Given the description of an element on the screen output the (x, y) to click on. 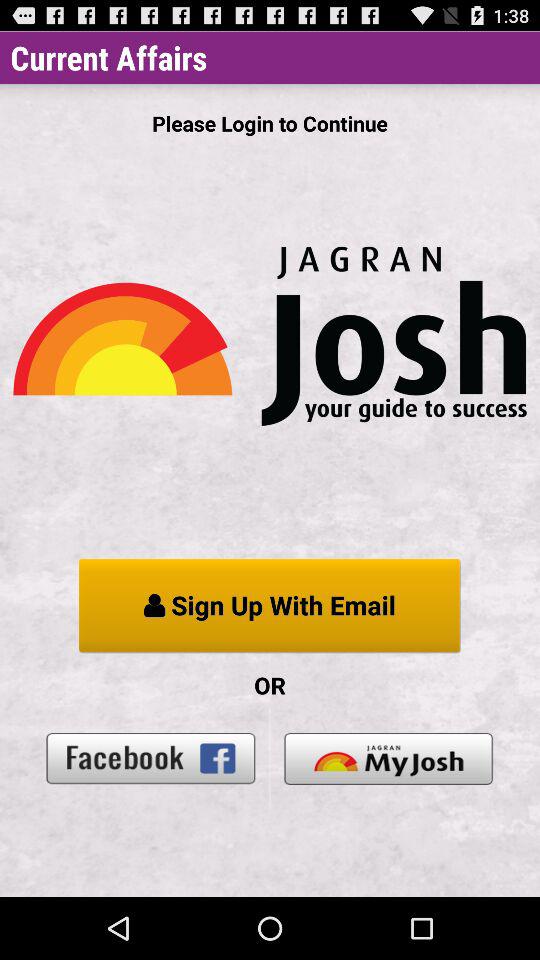
press the icon at the bottom right corner (388, 758)
